Given the description of an element on the screen output the (x, y) to click on. 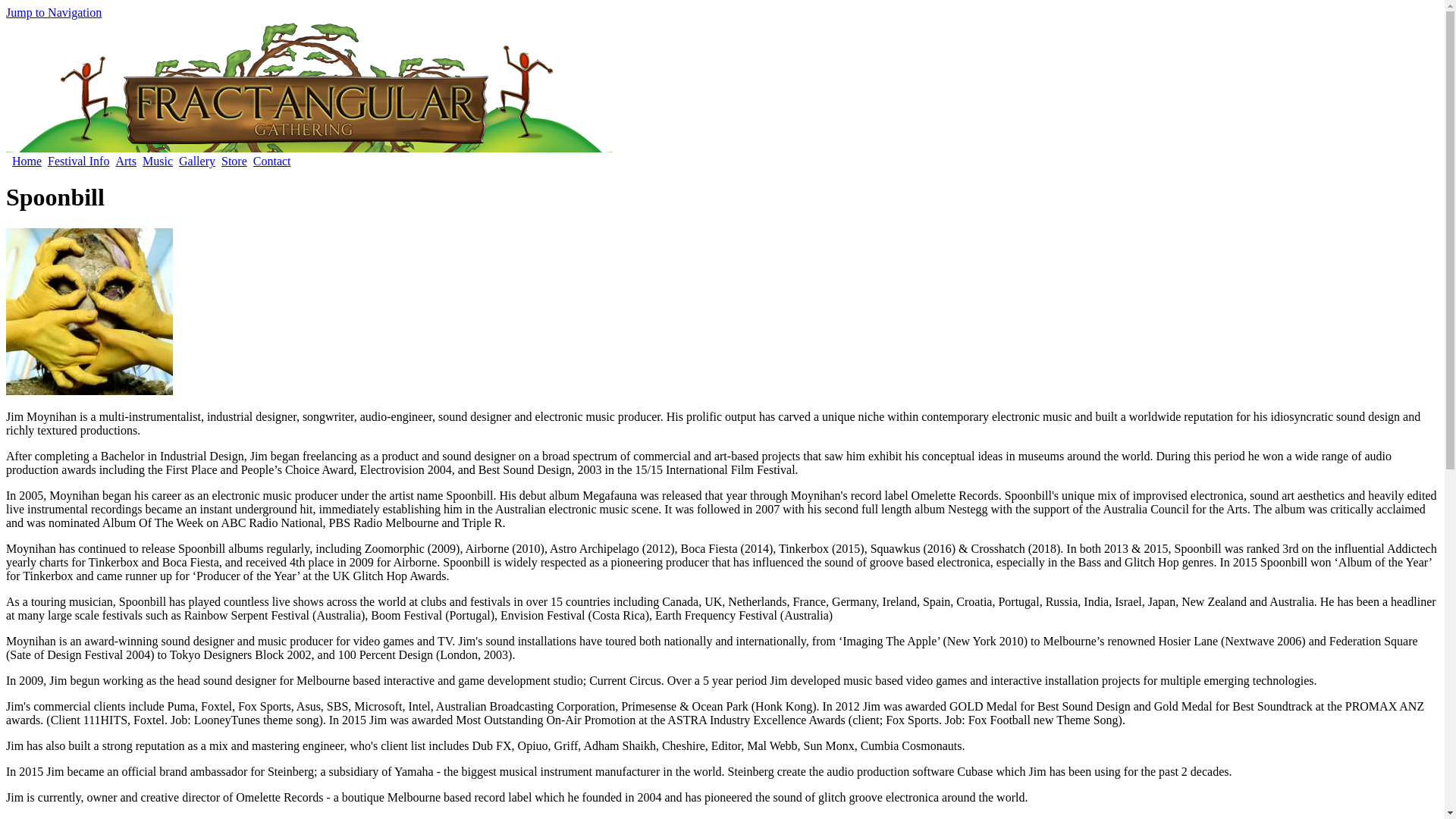
Store Element type: text (234, 161)
Jump to Navigation Element type: text (53, 12)
Home Element type: hover (309, 147)
Contact Element type: text (272, 161)
Home Element type: text (26, 161)
Music Element type: text (157, 161)
